Given the description of an element on the screen output the (x, y) to click on. 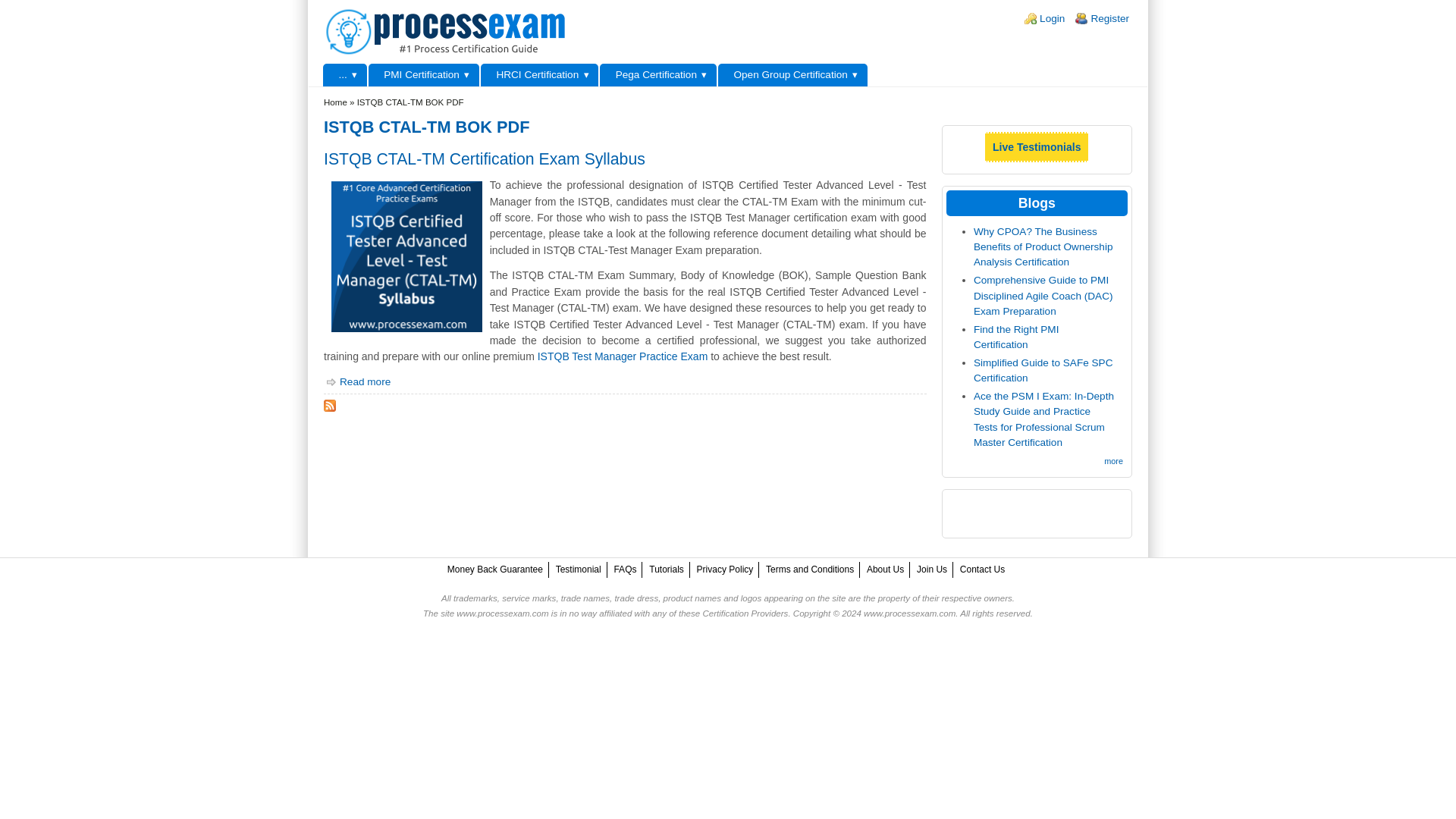
Login (1051, 18)
Register (1109, 18)
Other Certification (344, 74)
Skip to search (32, 0)
... (344, 74)
